Given the description of an element on the screen output the (x, y) to click on. 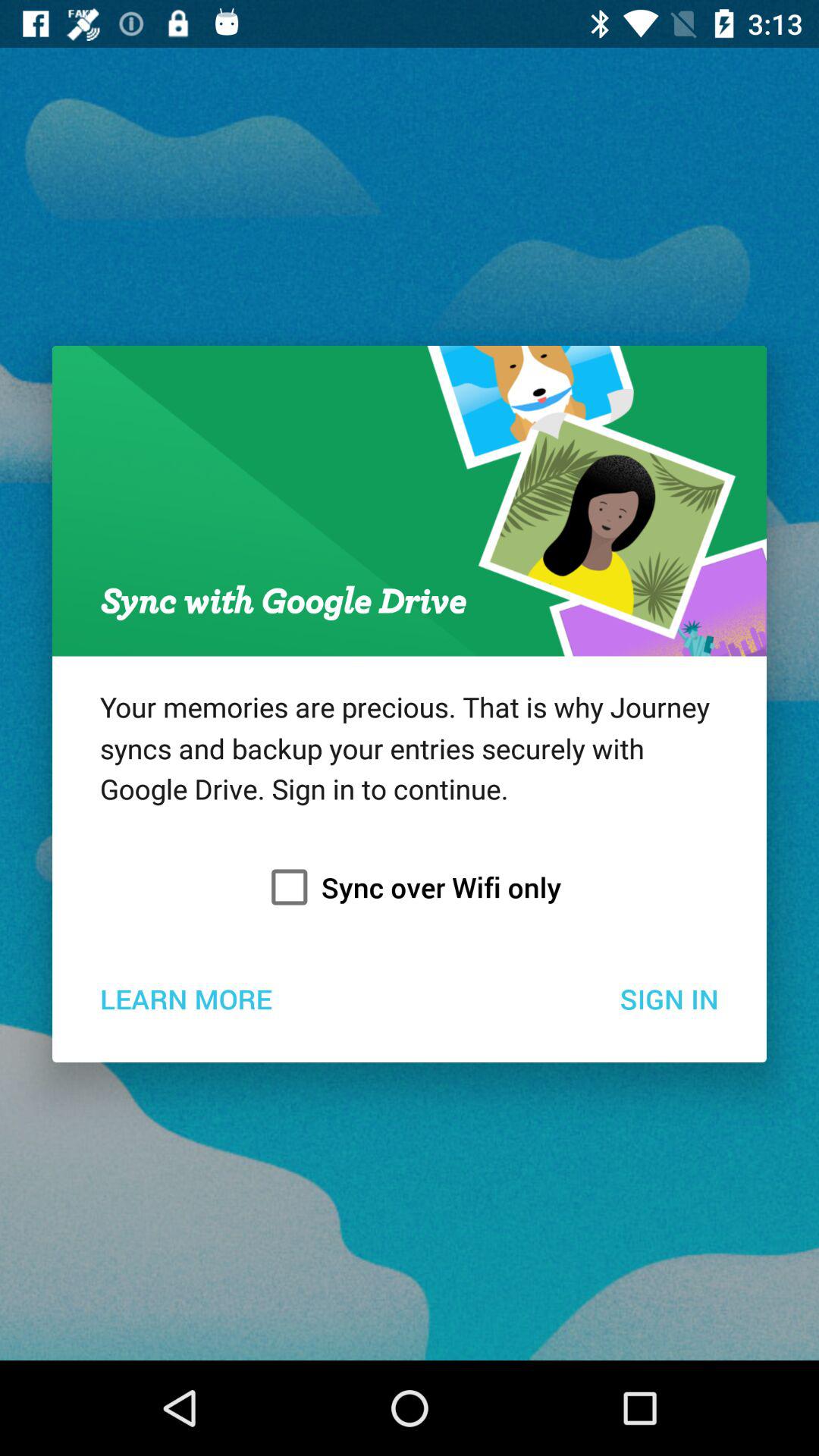
turn off the learn more at the bottom left corner (185, 998)
